Given the description of an element on the screen output the (x, y) to click on. 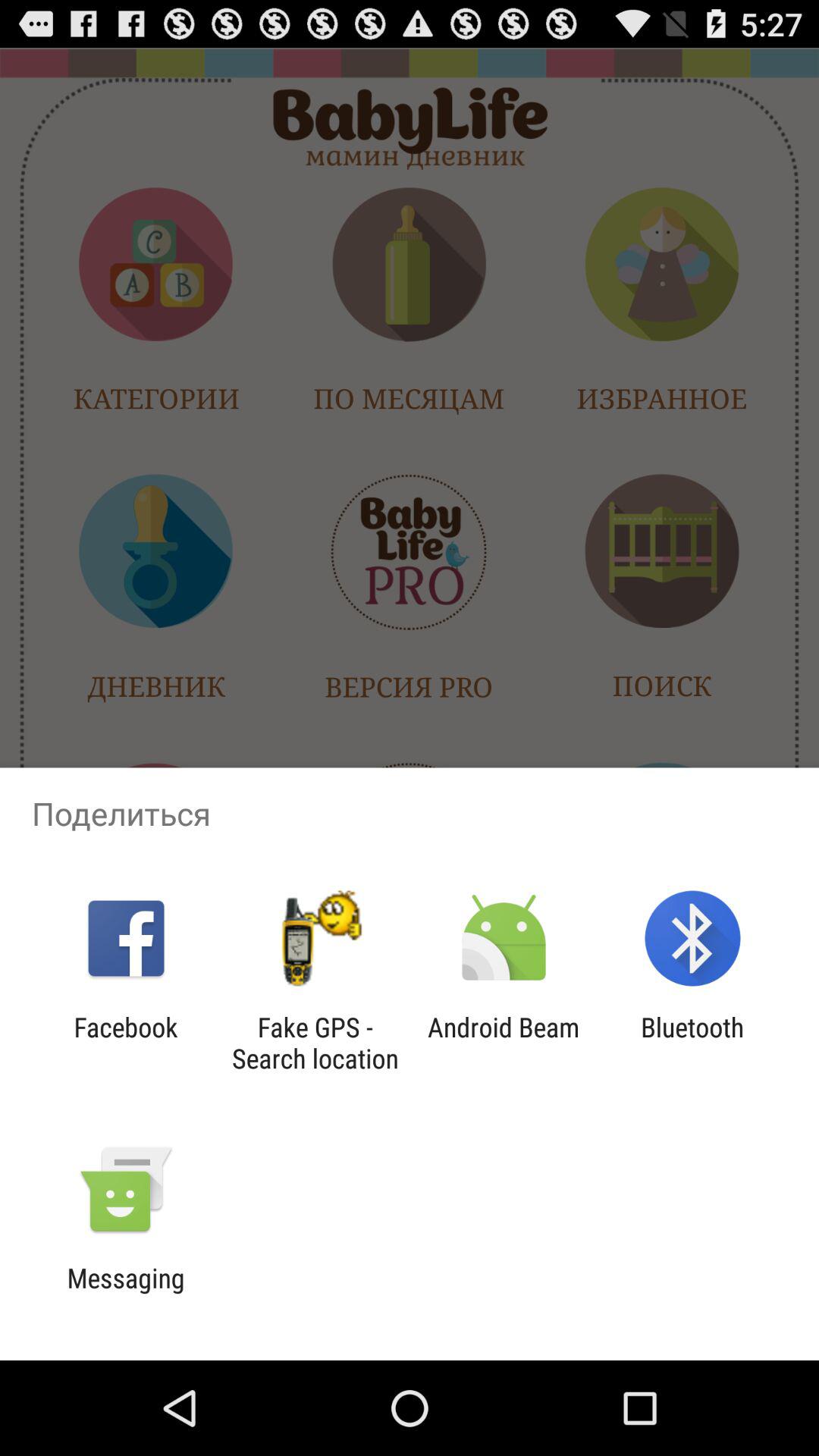
choose app to the right of facebook app (314, 1042)
